Given the description of an element on the screen output the (x, y) to click on. 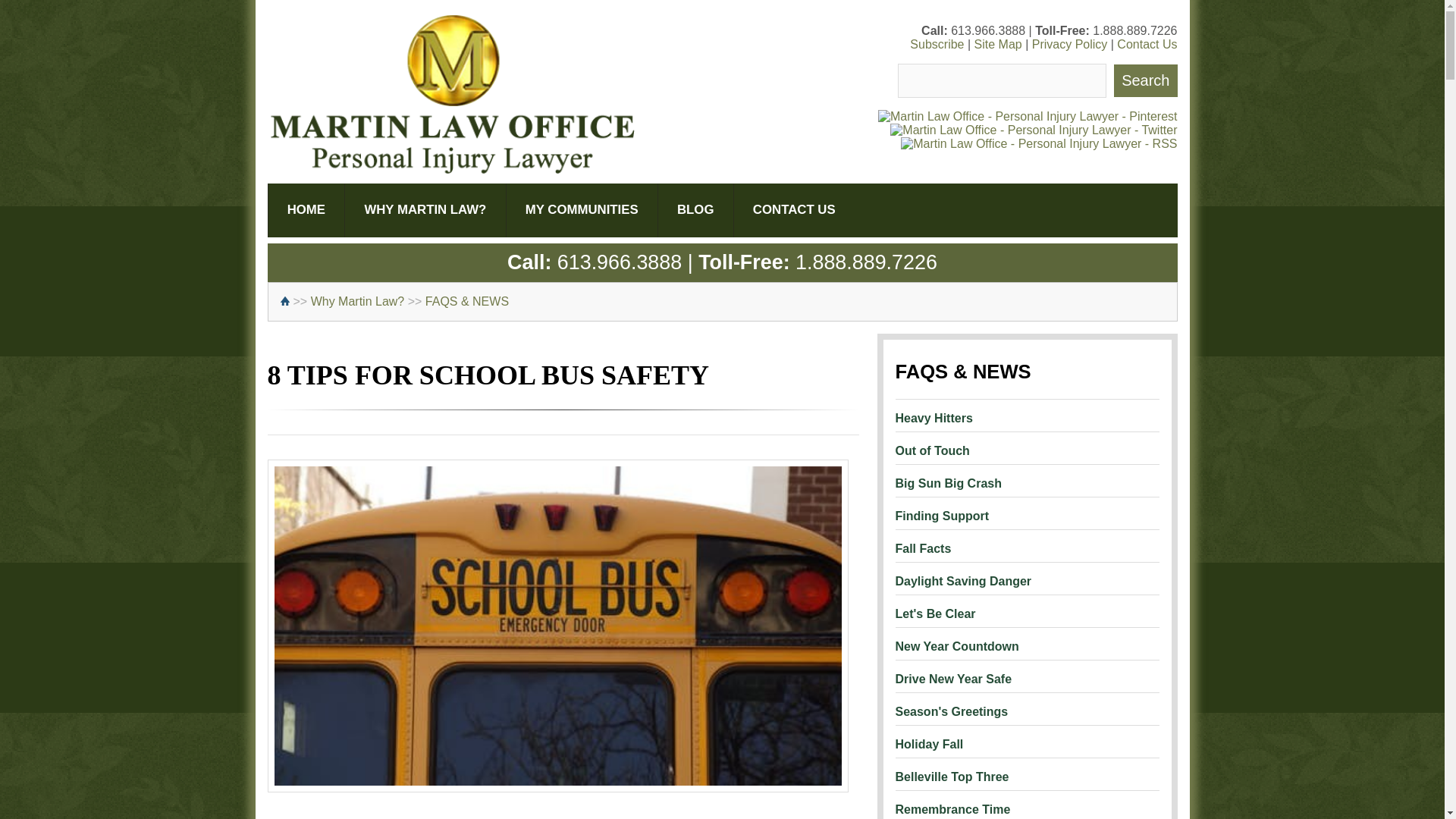
Privacy Policy (1070, 43)
CONTACT US (793, 209)
Site Map (998, 43)
Out of Touch (1026, 444)
BLOG (695, 209)
Search (1144, 80)
HOME (304, 209)
home (287, 300)
WHY MARTIN LAW? (424, 209)
Contact Us (1146, 43)
